Given the description of an element on the screen output the (x, y) to click on. 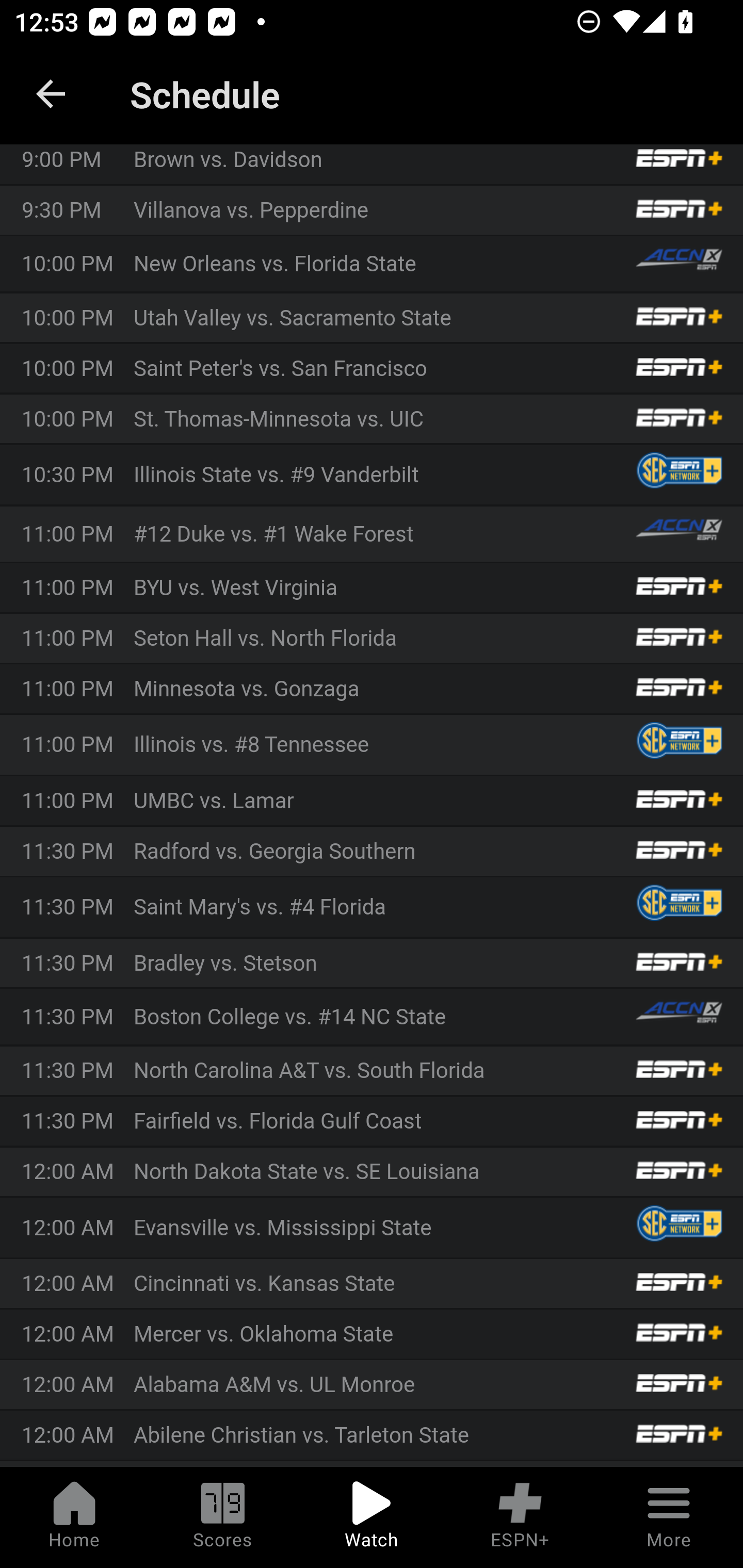
back.button (50, 93)
Home (74, 1517)
Scores (222, 1517)
ESPN+ (519, 1517)
More (668, 1517)
